Given the description of an element on the screen output the (x, y) to click on. 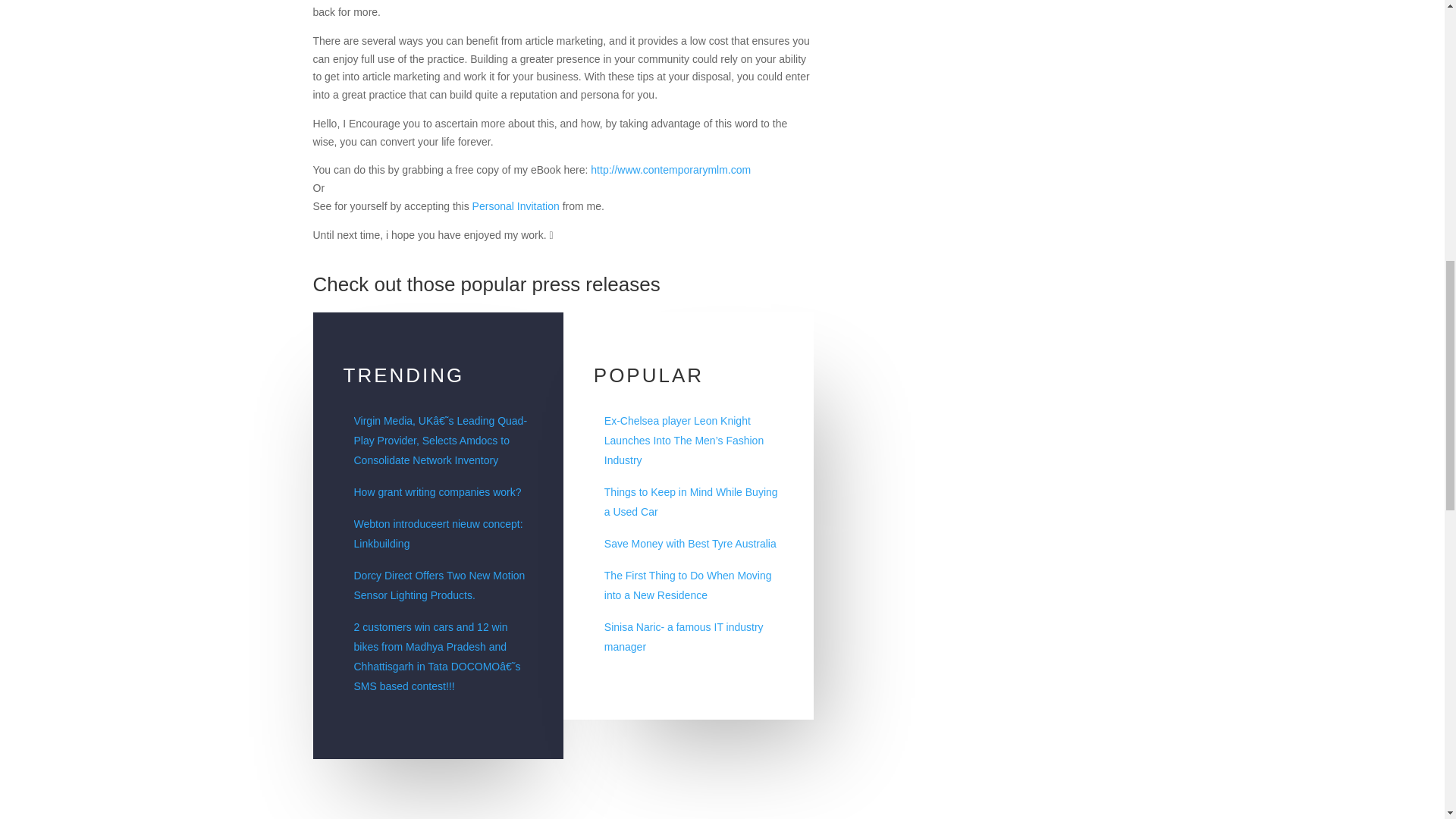
Sinisa Naric- a famous IT industry manager (683, 636)
Things to Keep in Mind While Buying a Used Car (690, 501)
Personal Invitation (515, 205)
The First Thing to Do When Moving into a New Residence (687, 585)
Dorcy Direct Offers Two New Motion Sensor Lighting Products. (438, 585)
Webton introduceert nieuw concept: Linkbuilding (437, 533)
Save Money with Best Tyre Australia (690, 543)
How grant writing companies work? (437, 491)
